Given the description of an element on the screen output the (x, y) to click on. 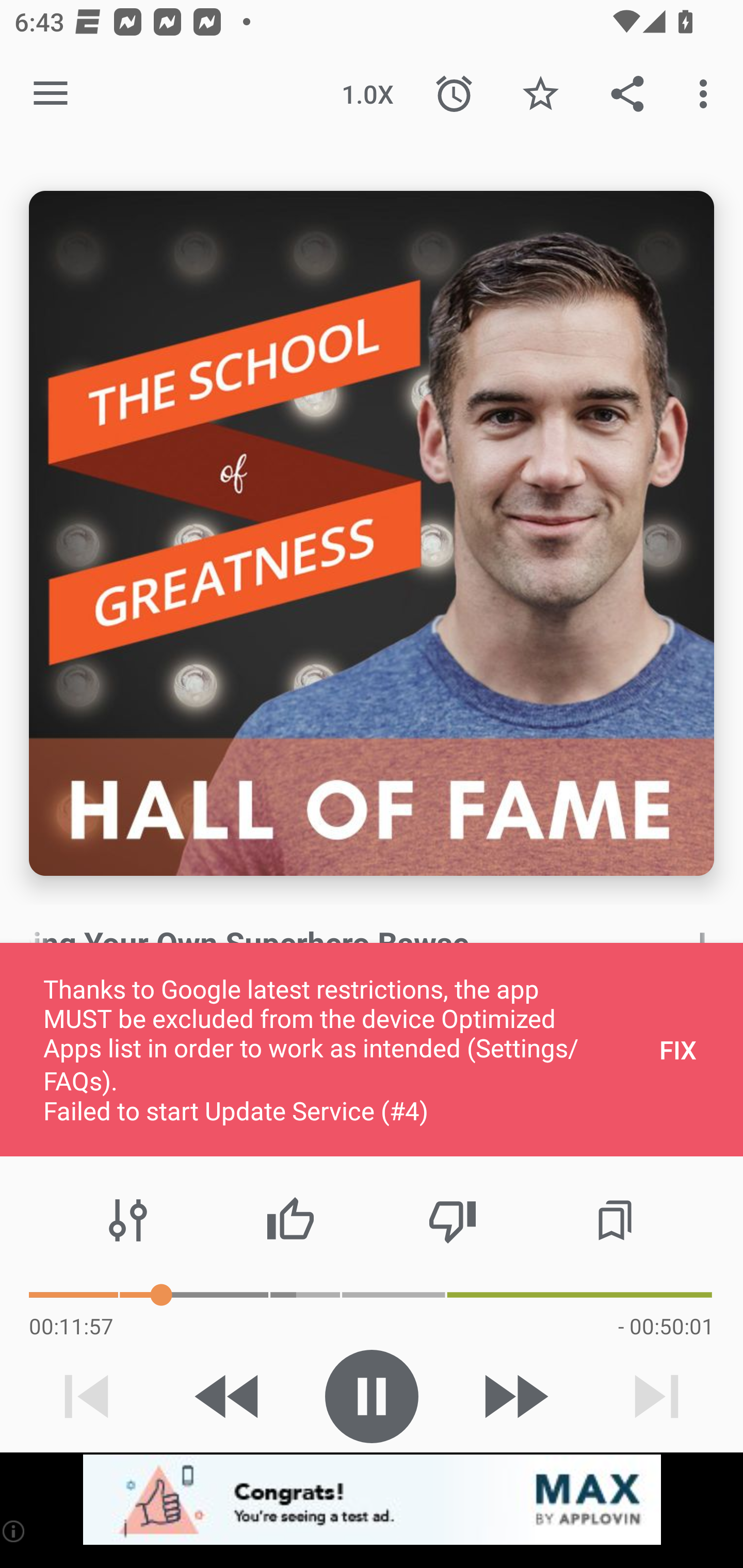
Open navigation sidebar (50, 93)
1.0X (366, 93)
Sleep Timer (453, 93)
Favorite (540, 93)
Share (626, 93)
More options (706, 93)
Episode description (371, 533)
FIX (677, 1049)
Audio effects (127, 1220)
Thumbs up (290, 1220)
Thumbs down (452, 1220)
Chapters / Bookmarks (614, 1220)
- 00:50:01 (666, 1325)
Previous track (86, 1395)
Skip 15s backward (228, 1395)
Play / Pause (371, 1395)
Skip 30s forward (513, 1395)
Next track (656, 1395)
app-monetization (371, 1500)
(i) (14, 1531)
